Given the description of an element on the screen output the (x, y) to click on. 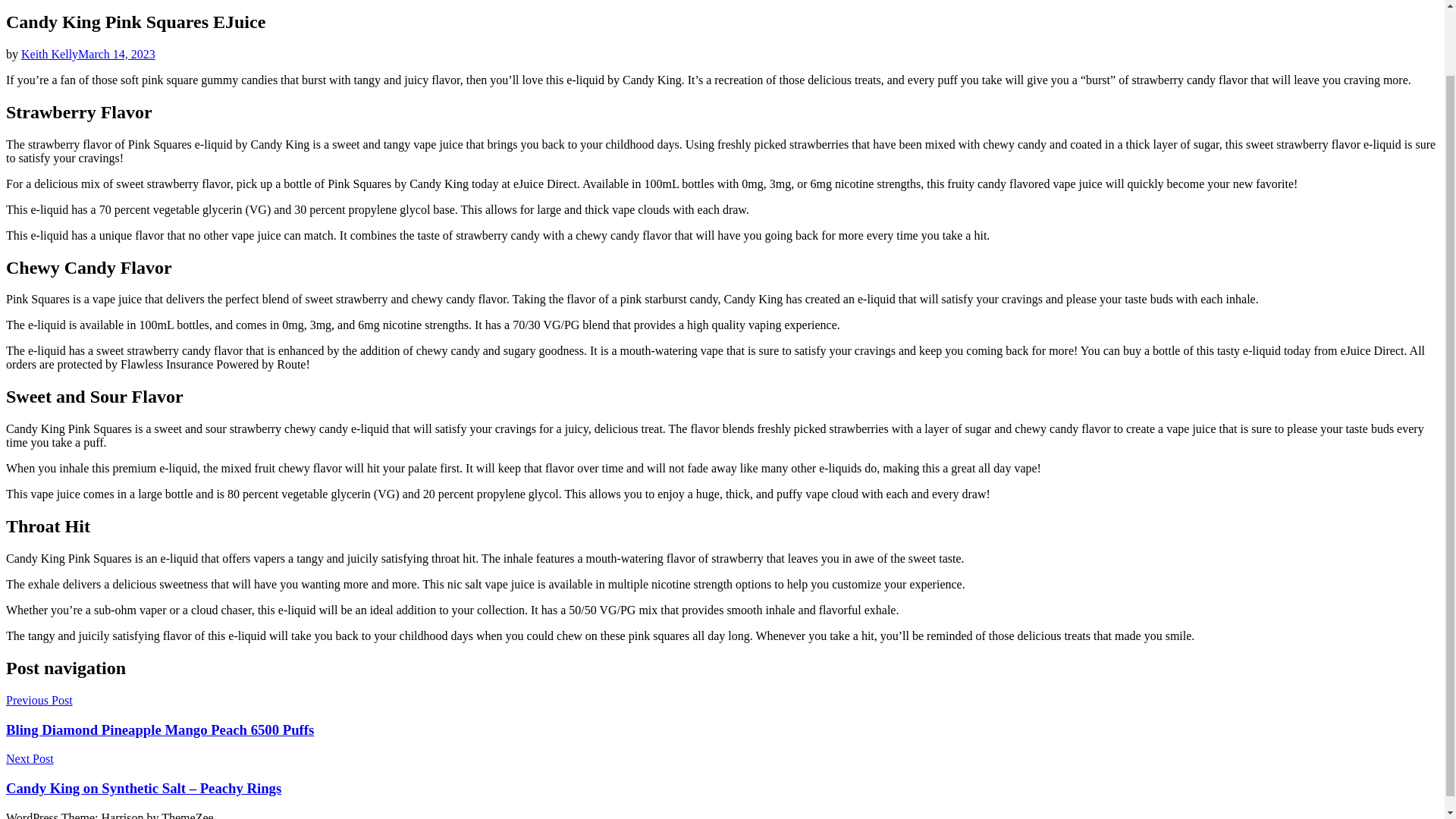
March 14, 2023 (116, 53)
View all posts by Keith Kelly (49, 53)
Keith Kelly (49, 53)
